Given the description of an element on the screen output the (x, y) to click on. 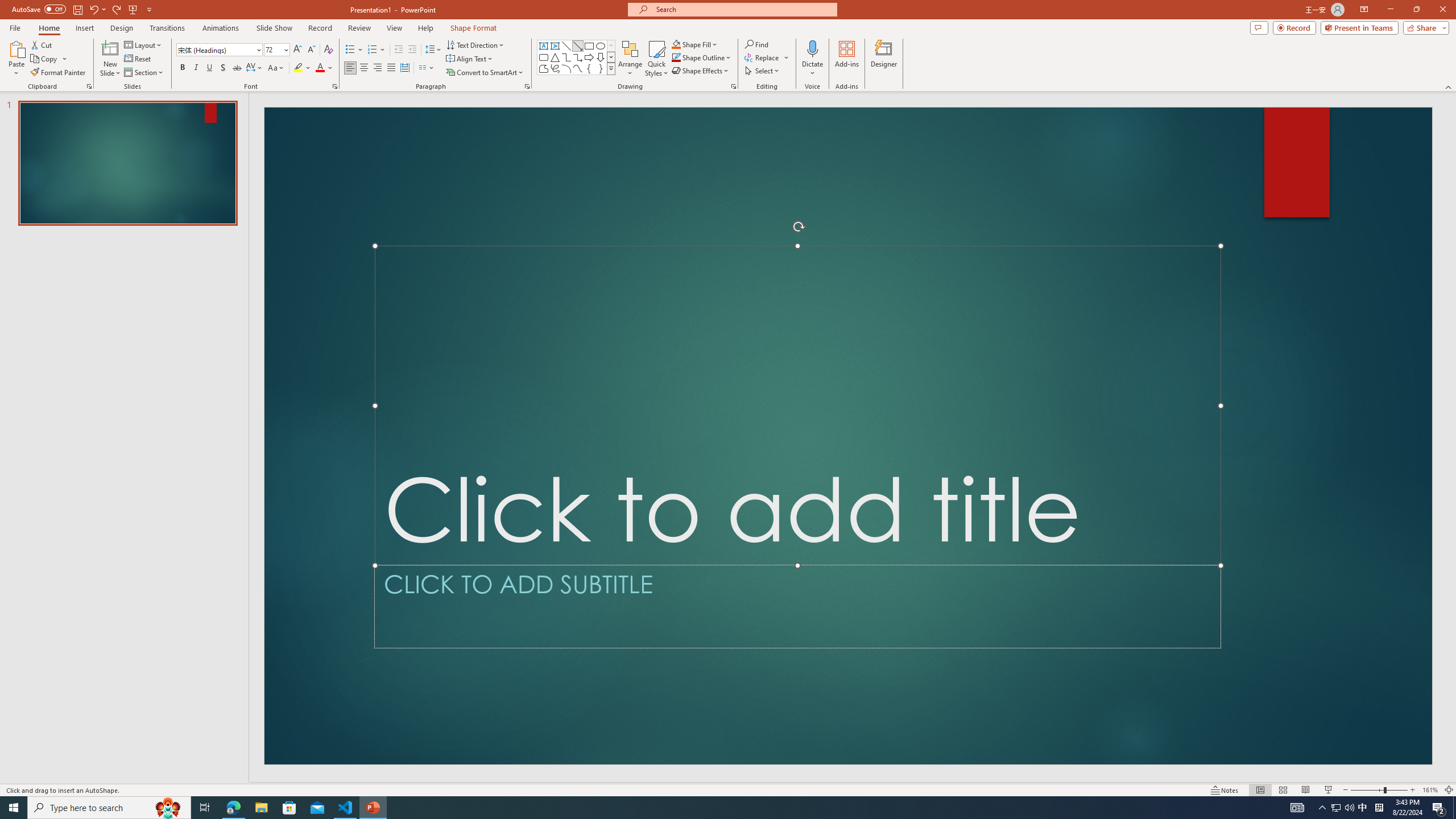
Dictate (812, 48)
Replace... (767, 56)
Subtitle TextBox (797, 606)
Line Spacing (433, 49)
Font Color Red (320, 67)
Reset (138, 58)
Designer (883, 58)
Rectangle: Rounded Corners (543, 57)
Quick Styles (656, 58)
Class: MsoCommandBar (728, 789)
Font Color (324, 67)
Shape Effects (700, 69)
Decrease Indent (398, 49)
